Given the description of an element on the screen output the (x, y) to click on. 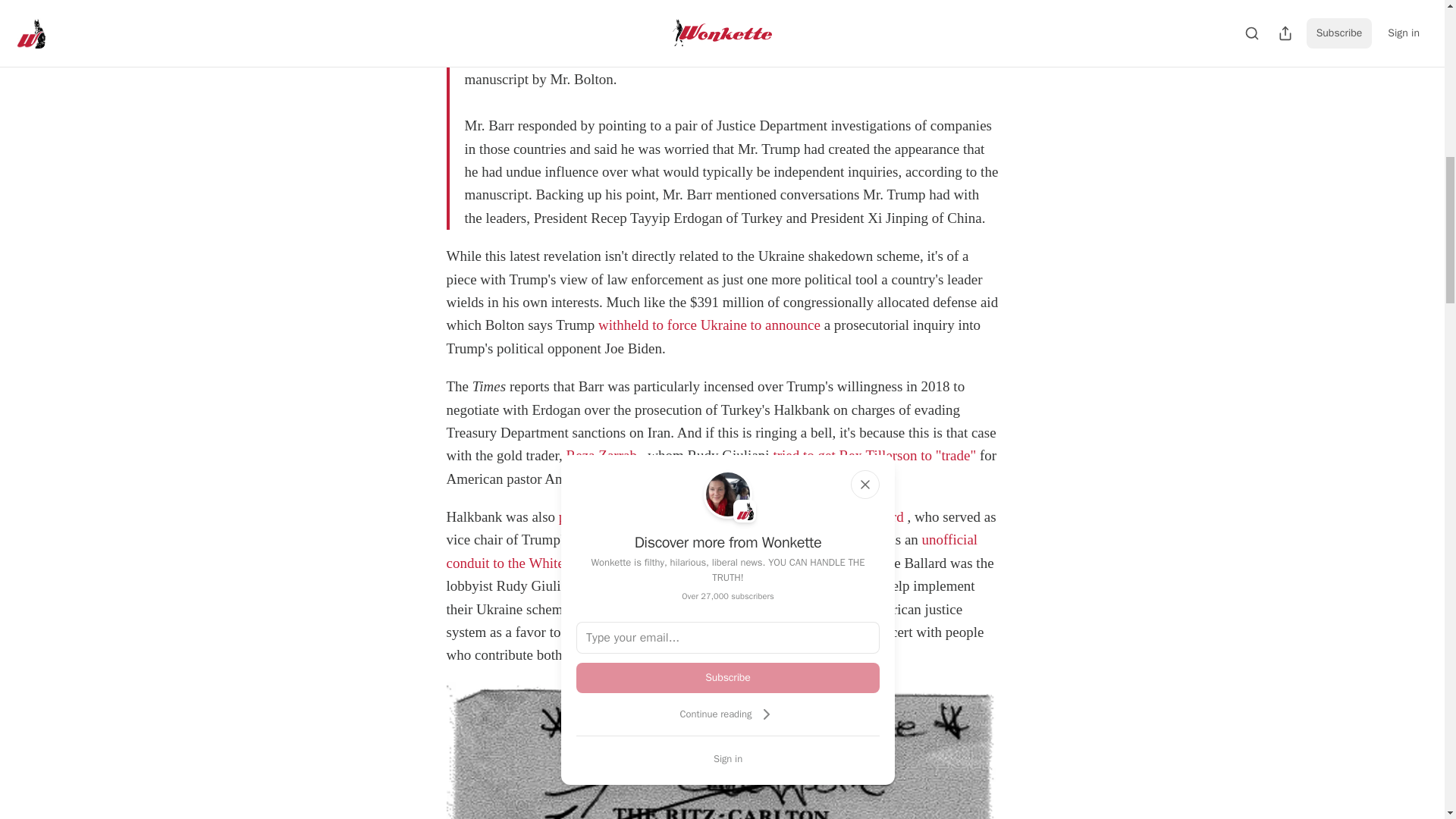
tried to get Rex Tillerson to "trade" (874, 455)
Sign in (727, 758)
paying Ballard Partners (626, 516)
Brian Ballard (864, 516)
Subscribe (727, 677)
Reza Zarrab (601, 455)
unofficial conduit to the White House. (710, 550)
instructed Lev Parnas to hire (663, 585)
withheld to force Ukraine to announce (709, 324)
